Given the description of an element on the screen output the (x, y) to click on. 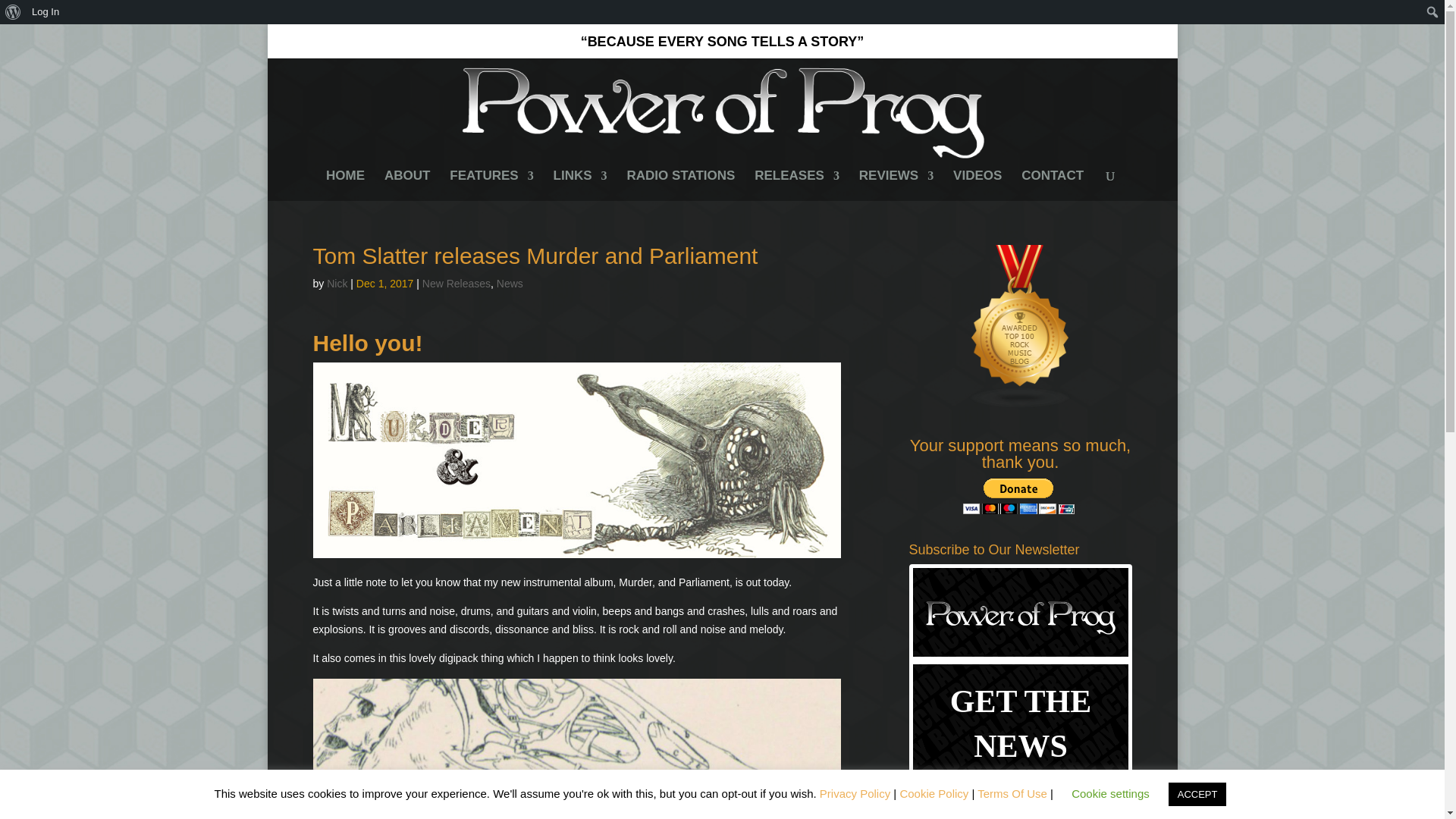
REVIEWS (896, 185)
Search (16, 13)
LINKS (580, 185)
HOME (345, 185)
CONTACT (1052, 185)
RADIO STATIONS (680, 185)
FEATURES (490, 185)
Rock Music blogs (1020, 404)
RELEASES (797, 185)
ABOUT (406, 185)
VIDEOS (977, 185)
Log In (45, 12)
Posts by Nick (336, 283)
